Given the description of an element on the screen output the (x, y) to click on. 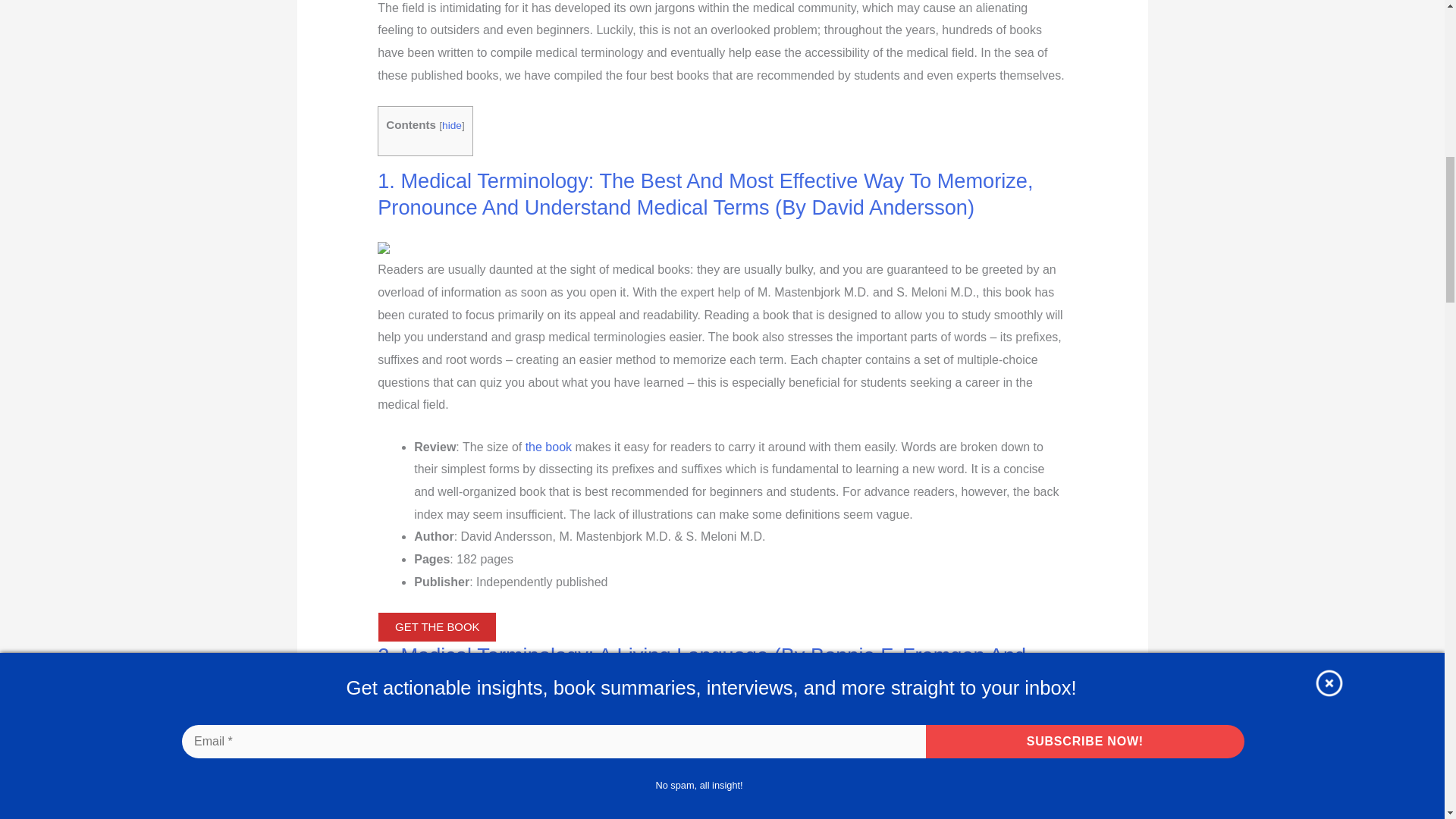
the book (548, 446)
GET THE BOOK (436, 626)
hide (451, 125)
